Given the description of an element on the screen output the (x, y) to click on. 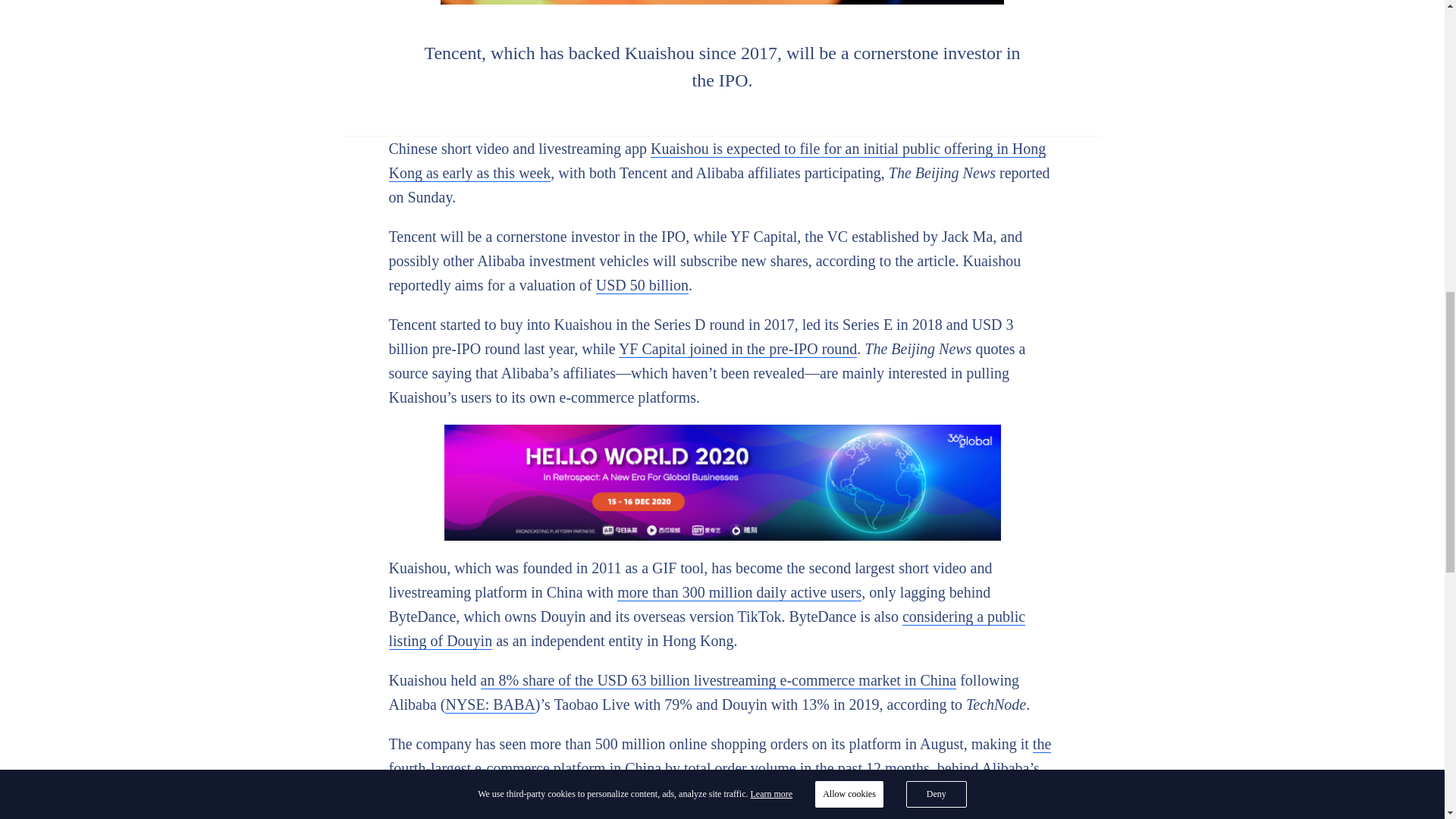
NASDAQ: PDD (809, 792)
considering a public listing of Douyin (706, 629)
NYSE: BABA (489, 704)
more than 300 million daily active users (739, 592)
YF Capital joined in the pre-IPO round (737, 348)
NASDAQ:JD (604, 792)
USD 50 billion (641, 285)
